Given the description of an element on the screen output the (x, y) to click on. 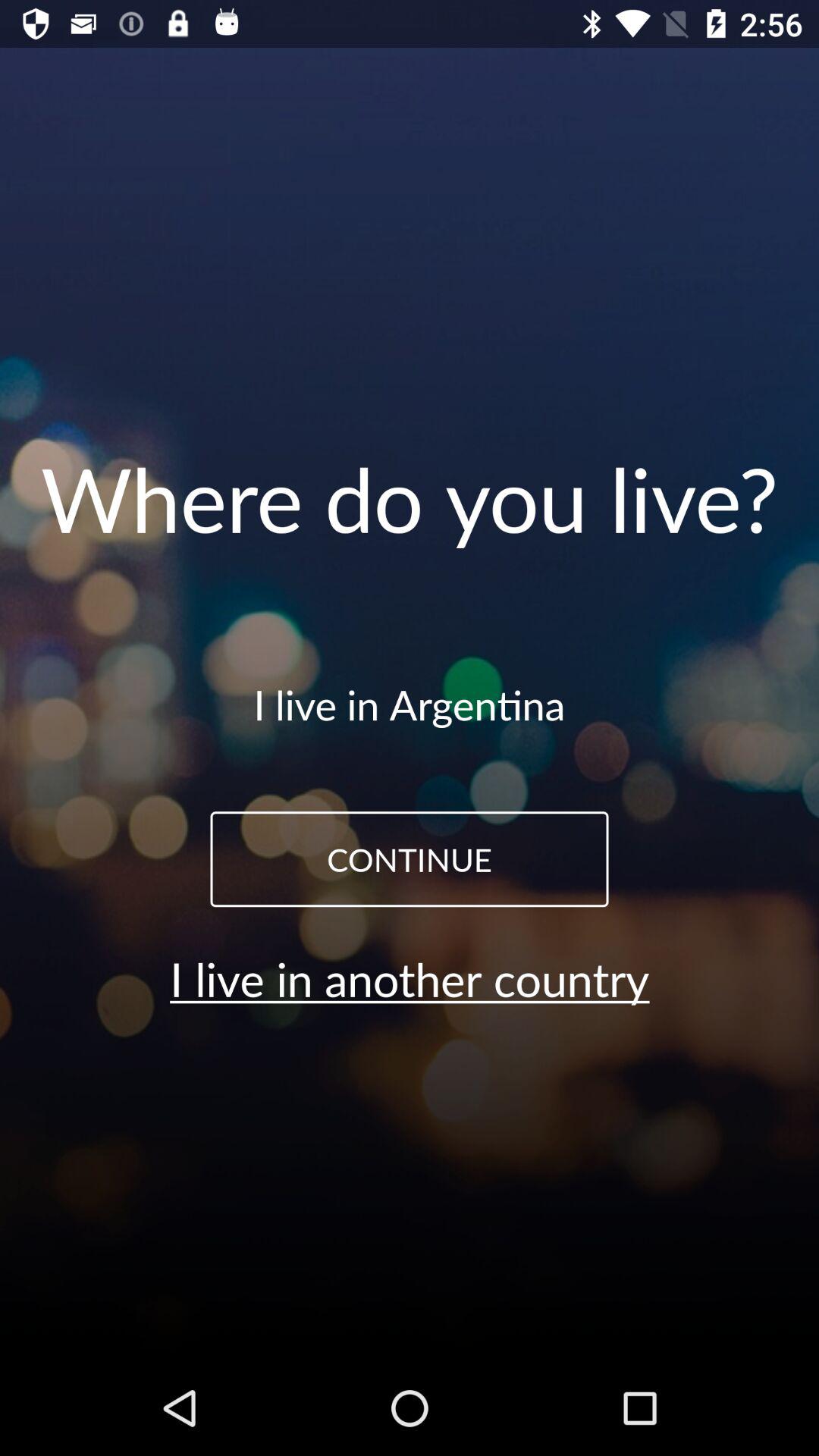
open icon below the i live in (409, 859)
